Given the description of an element on the screen output the (x, y) to click on. 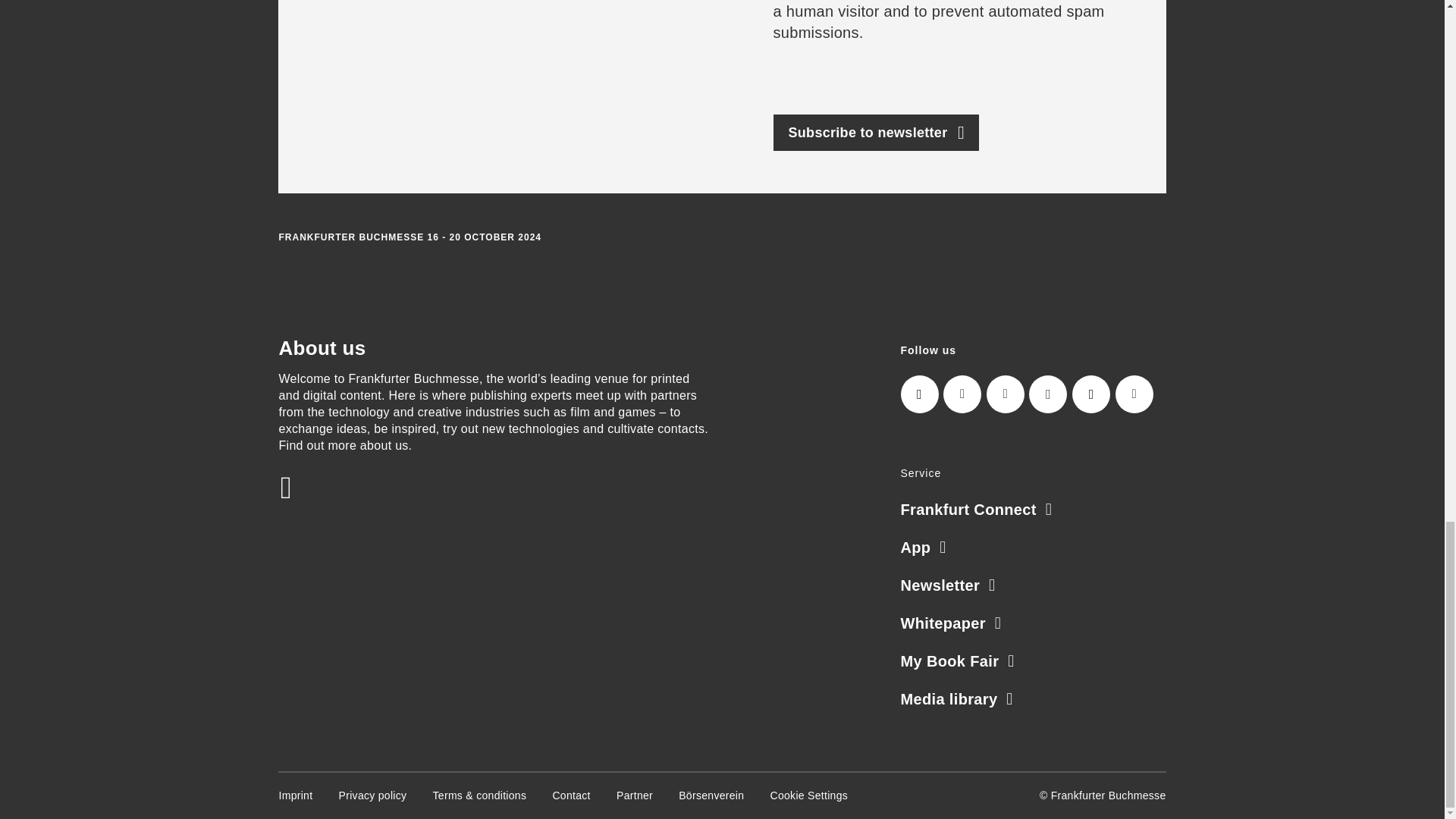
TikTok (1090, 394)
Facebook (1048, 394)
Frankfurt Connect (976, 508)
App (923, 547)
Youtube (1134, 394)
Instagram (920, 394)
Twitter (1006, 394)
Subscribe to newsletter (876, 132)
LinkedIn (962, 394)
Newsletter (948, 585)
